Given the description of an element on the screen output the (x, y) to click on. 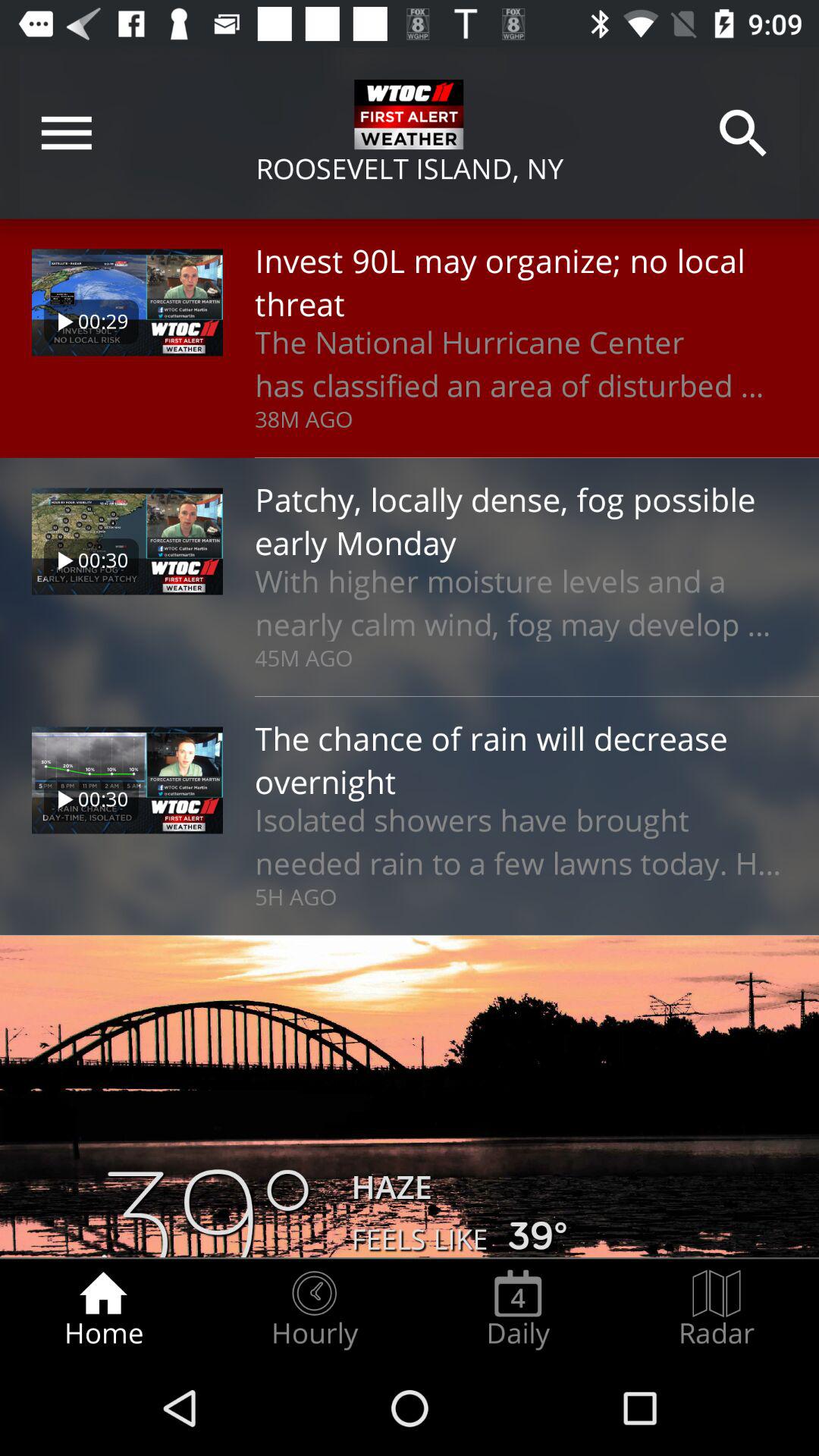
click the item at the bottom right corner (716, 1309)
